Given the description of an element on the screen output the (x, y) to click on. 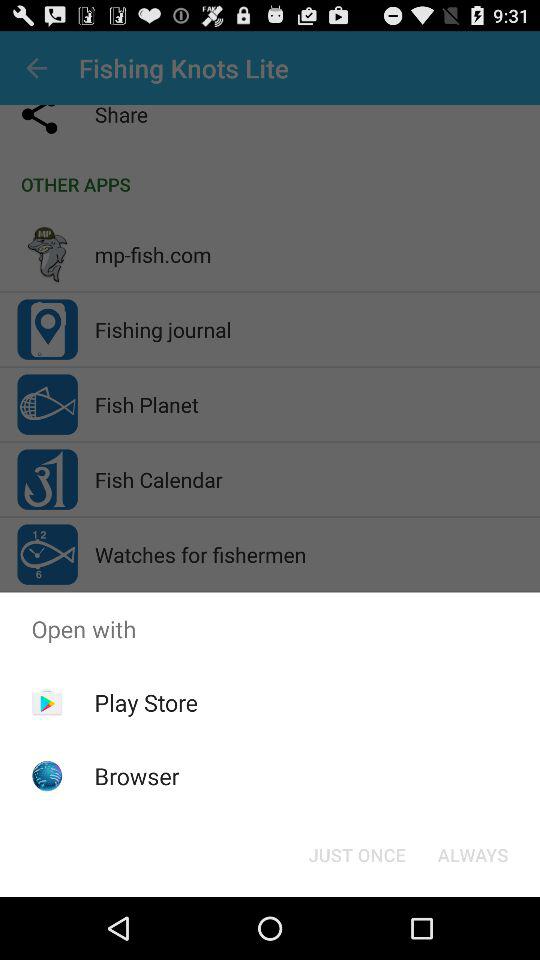
tap the play store (146, 702)
